Given the description of an element on the screen output the (x, y) to click on. 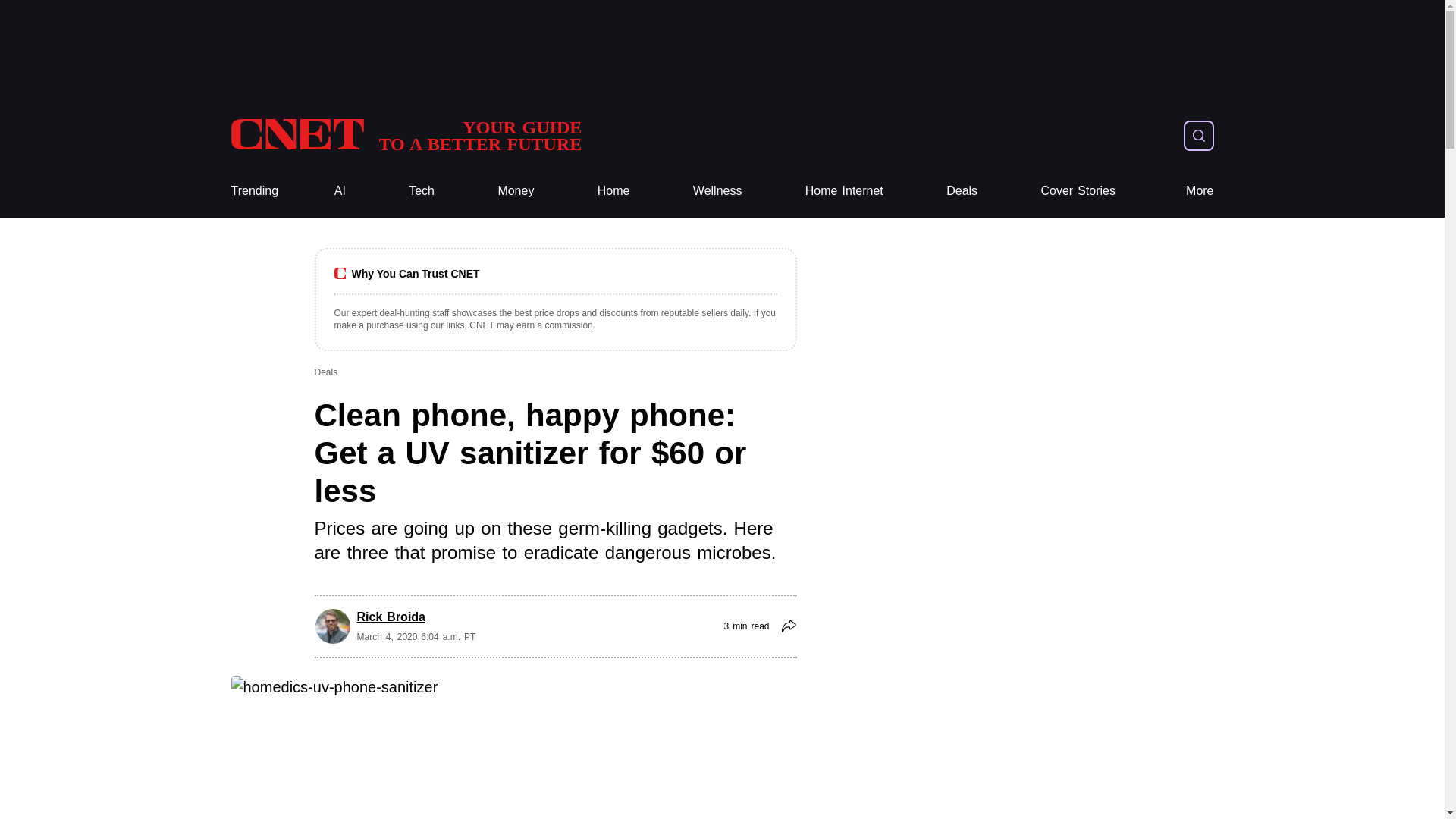
AI (340, 190)
Home Internet (844, 190)
Cover Stories (1078, 190)
Money (515, 190)
More (1199, 190)
Home Internet (844, 190)
Money (405, 135)
Tech (515, 190)
Home (421, 190)
CNET (613, 190)
Wellness (405, 135)
Wellness (717, 190)
Trending (717, 190)
Tech (254, 190)
